Given the description of an element on the screen output the (x, y) to click on. 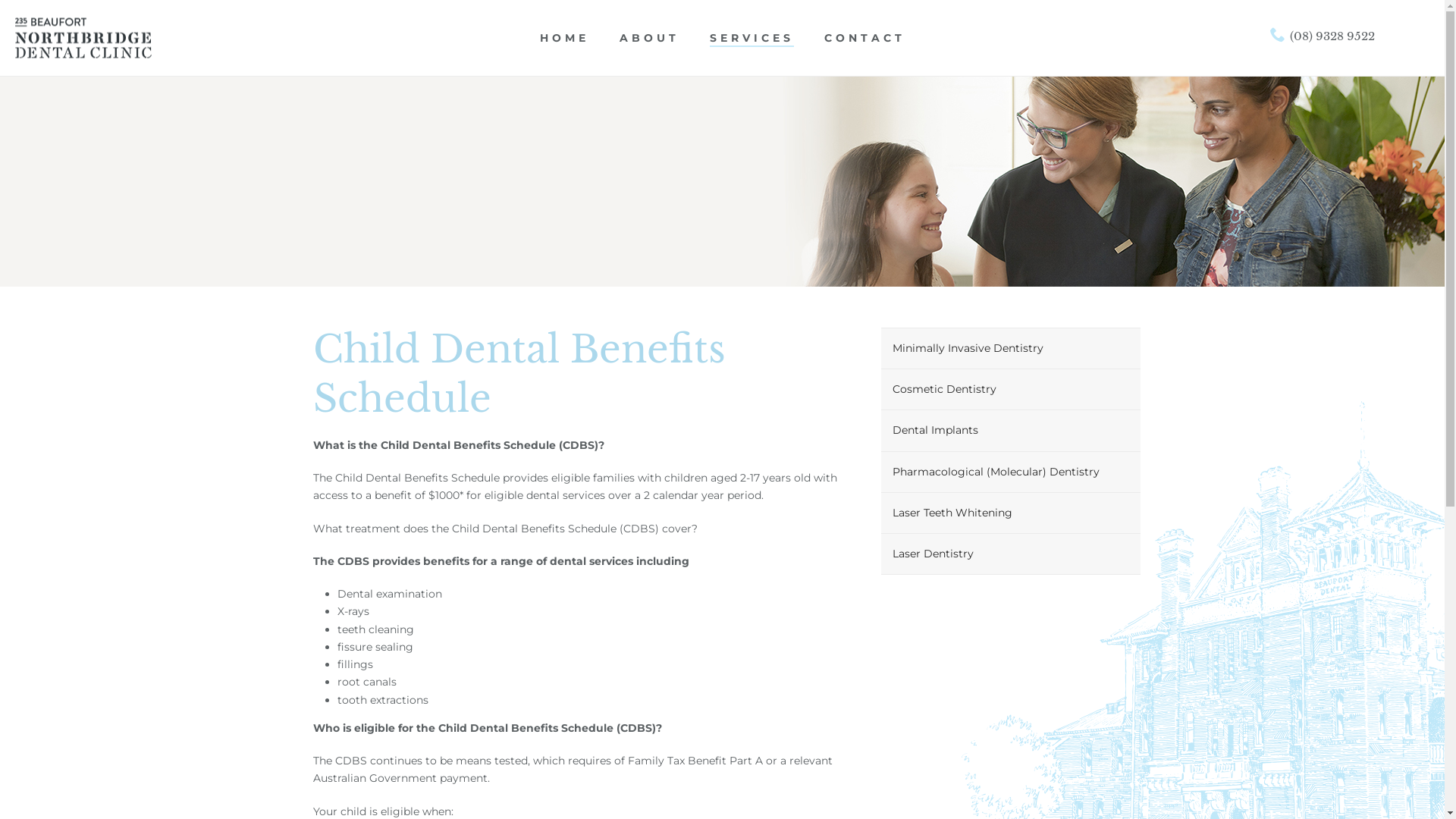
Pharmacological (Molecular) Dentistry Element type: text (1010, 471)
ABOUT Element type: text (648, 38)
Northbridge Dental Clinic Element type: hover (83, 38)
(08) 9328 9522 Element type: text (1322, 36)
Laser Dentistry Element type: text (1010, 553)
Minimally Invasive Dentistry Element type: text (1010, 348)
SERVICES Element type: text (751, 38)
HOME Element type: text (564, 38)
Cosmetic Dentistry Element type: text (1010, 389)
Laser Teeth Whitening Element type: text (1010, 512)
Dental Implants Element type: text (1010, 430)
CONTACT Element type: text (863, 38)
